Given the description of an element on the screen output the (x, y) to click on. 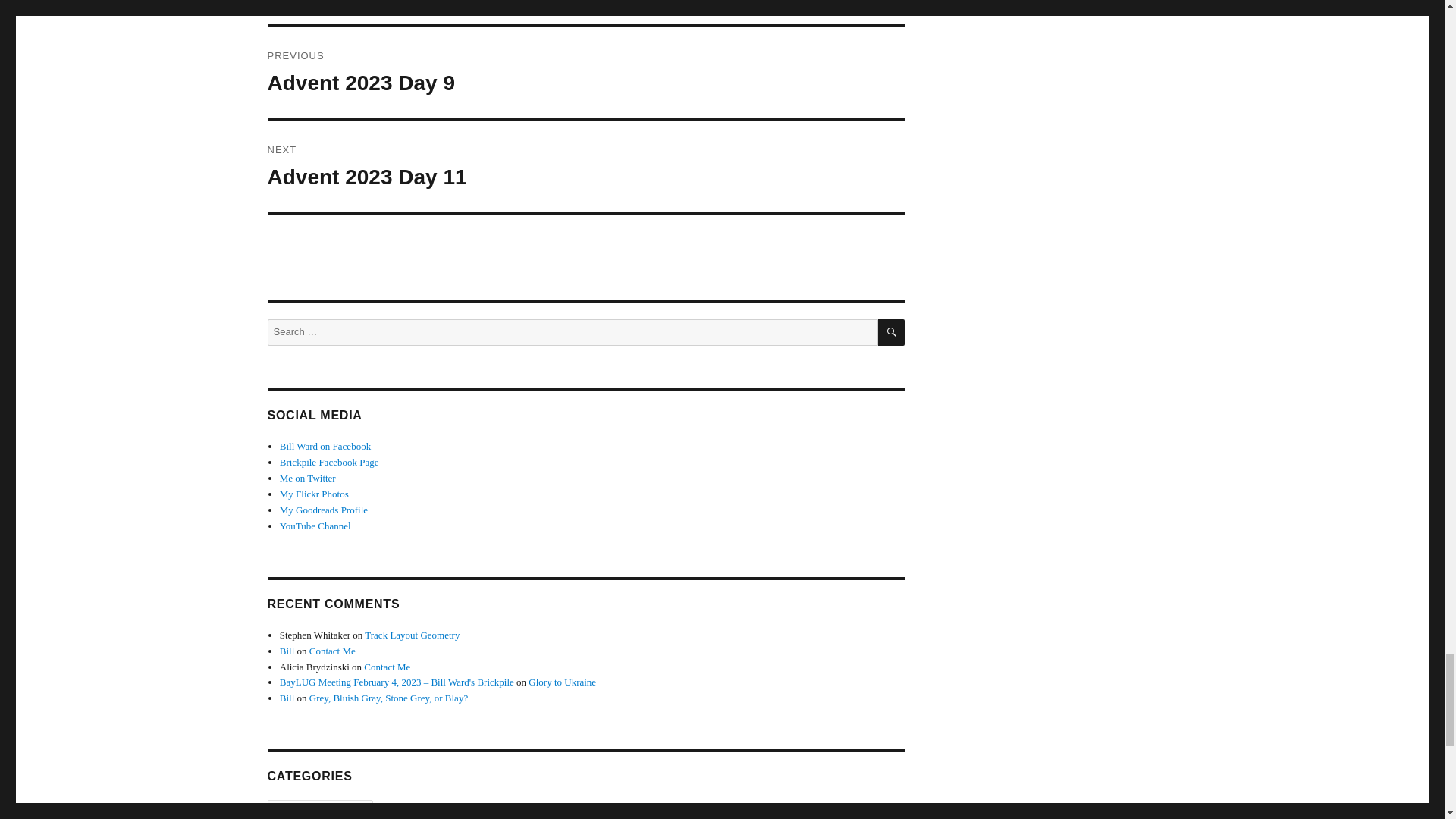
Me on Twitter (307, 478)
Brickpile Facebook Page (328, 461)
My Flickr Photos (314, 493)
Bill Ward on Facebook (585, 72)
SEARCH (325, 446)
My photostream on flickr.com (890, 332)
